Given the description of an element on the screen output the (x, y) to click on. 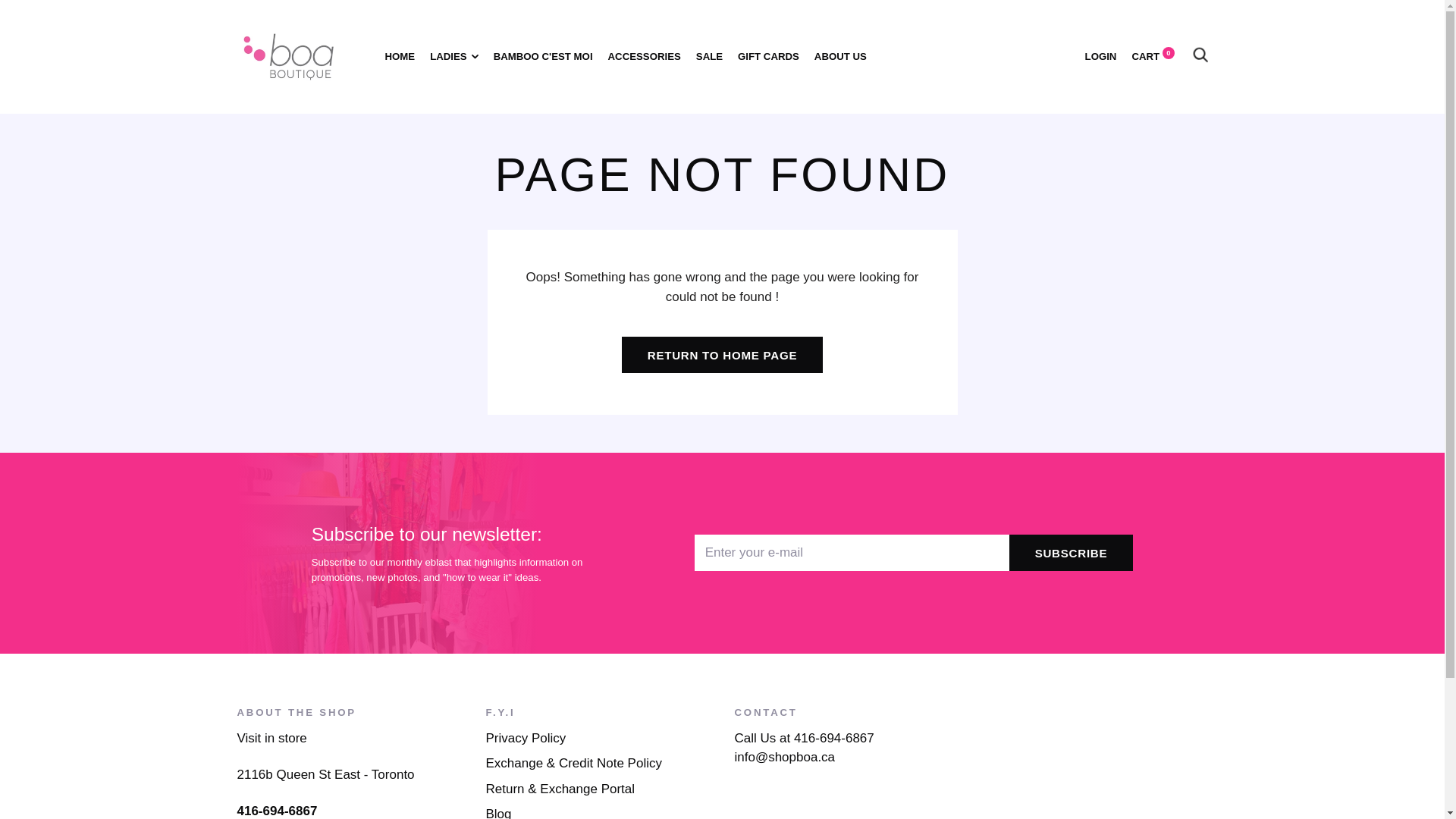
LOGIN (1100, 56)
Subscribe (1071, 552)
LADIES (453, 56)
ABOUT US (839, 56)
BAMBOO C'EST MOI (542, 56)
GIFT CARDS (768, 56)
SALE (708, 56)
HOME (399, 56)
ACCESSORIES (644, 56)
